Given the description of an element on the screen output the (x, y) to click on. 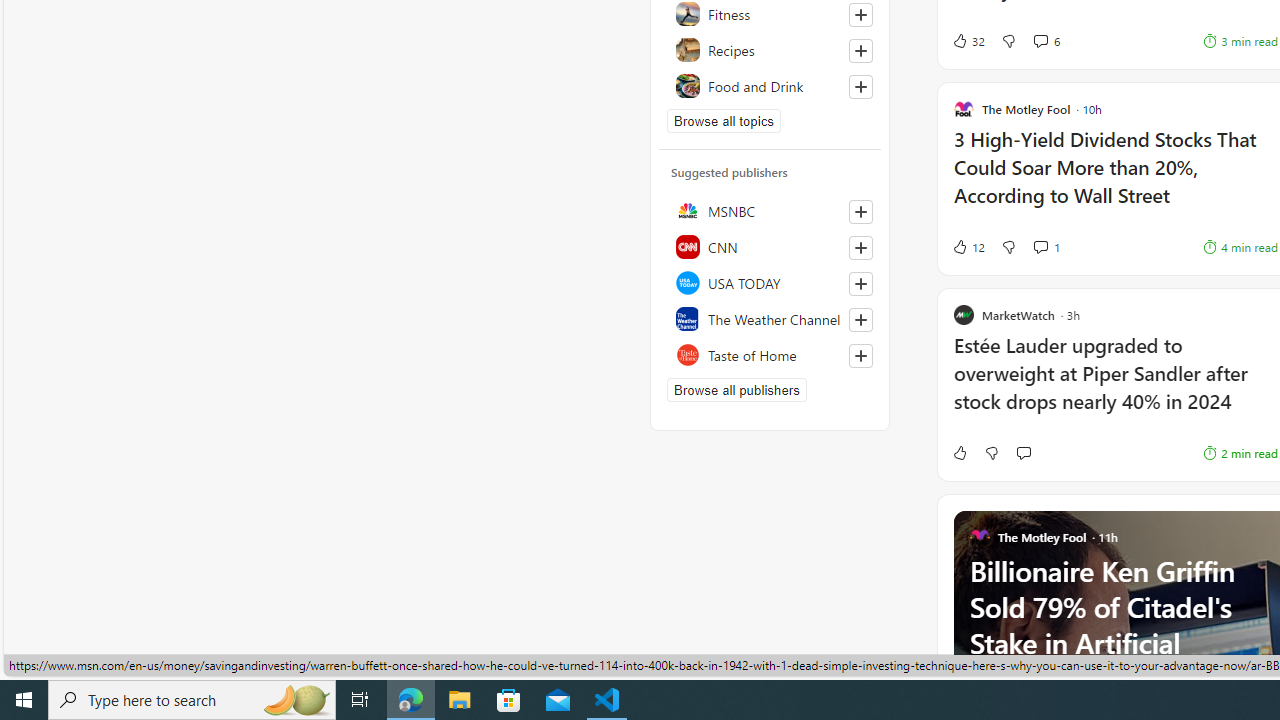
Like (959, 452)
Follow this source (860, 355)
Taste of Home (770, 354)
12 Like (968, 246)
Follow this topic (860, 86)
Recipes (770, 49)
View comments 6 Comment (1040, 40)
Start the conversation (1023, 452)
Browse all publishers (736, 389)
View comments 1 Comment (1040, 246)
